Given the description of an element on the screen output the (x, y) to click on. 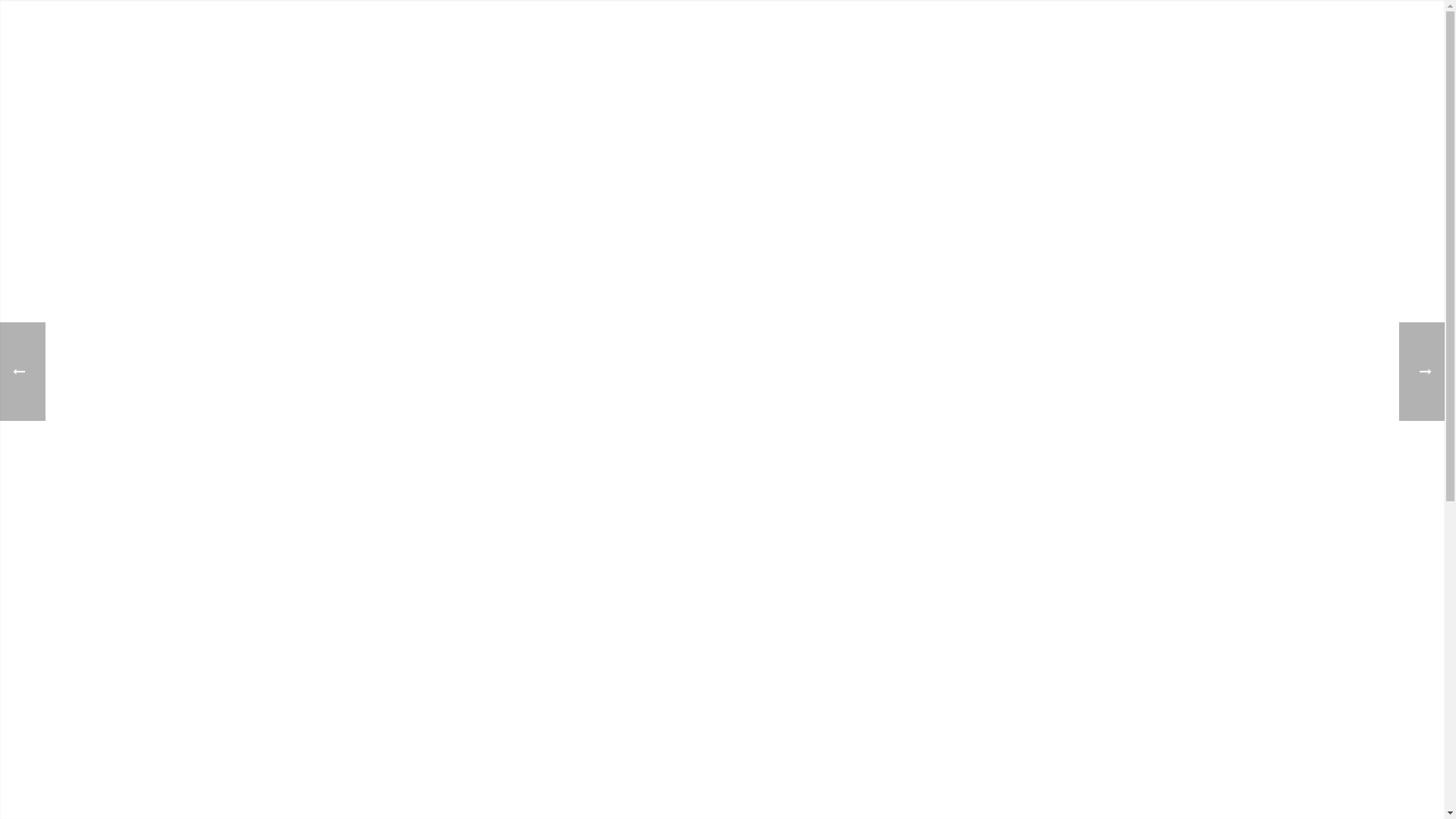
CONTACT Element type: text (1113, 53)
WORKS Element type: text (1037, 53)
SERVICES Element type: text (884, 53)
CLIENTS Element type: text (963, 53)
HOME Element type: text (713, 53)
WHO WE ARE Element type: text (795, 53)
